Given the description of an element on the screen output the (x, y) to click on. 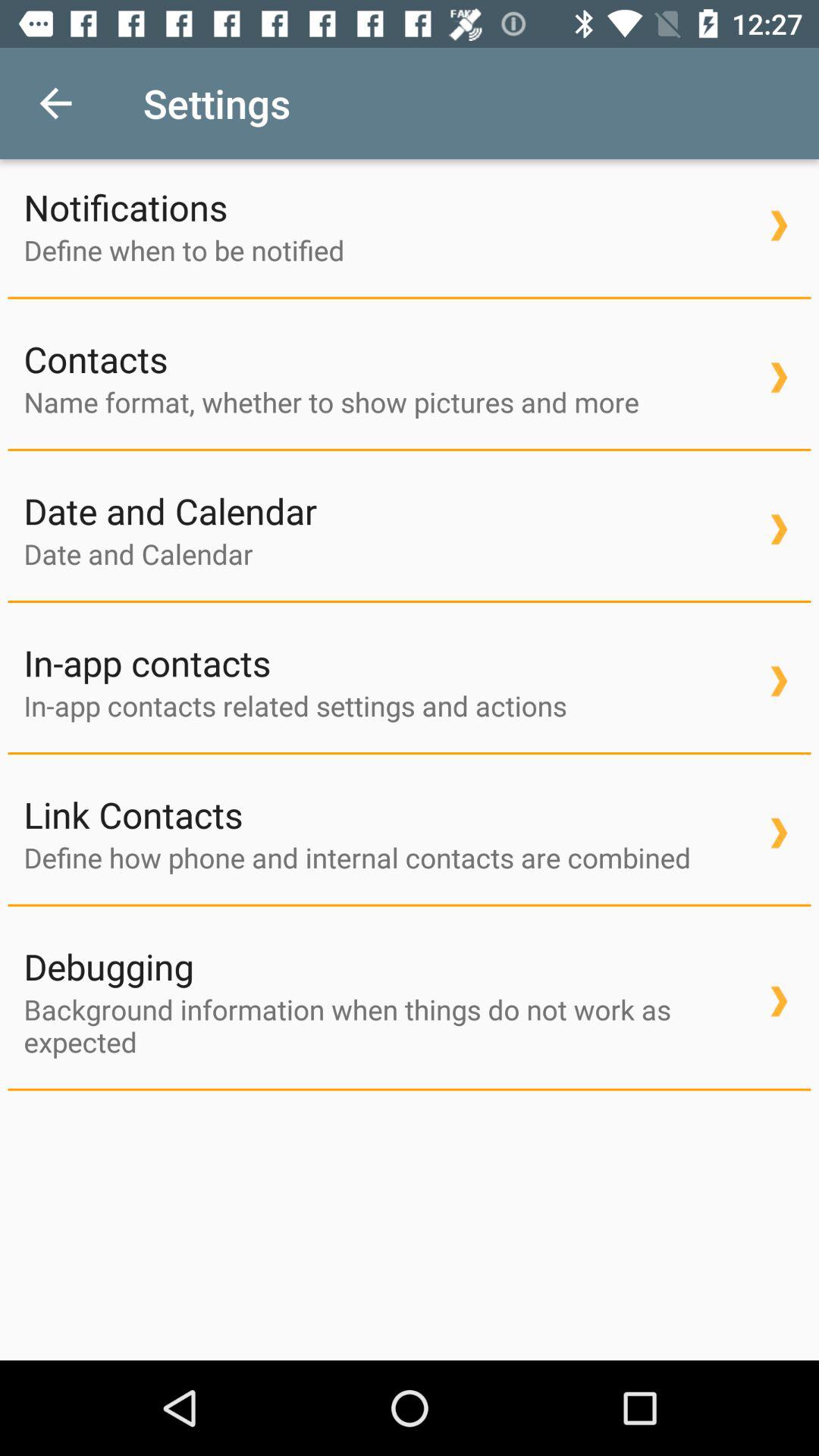
launch icon next to settings item (55, 103)
